Given the description of an element on the screen output the (x, y) to click on. 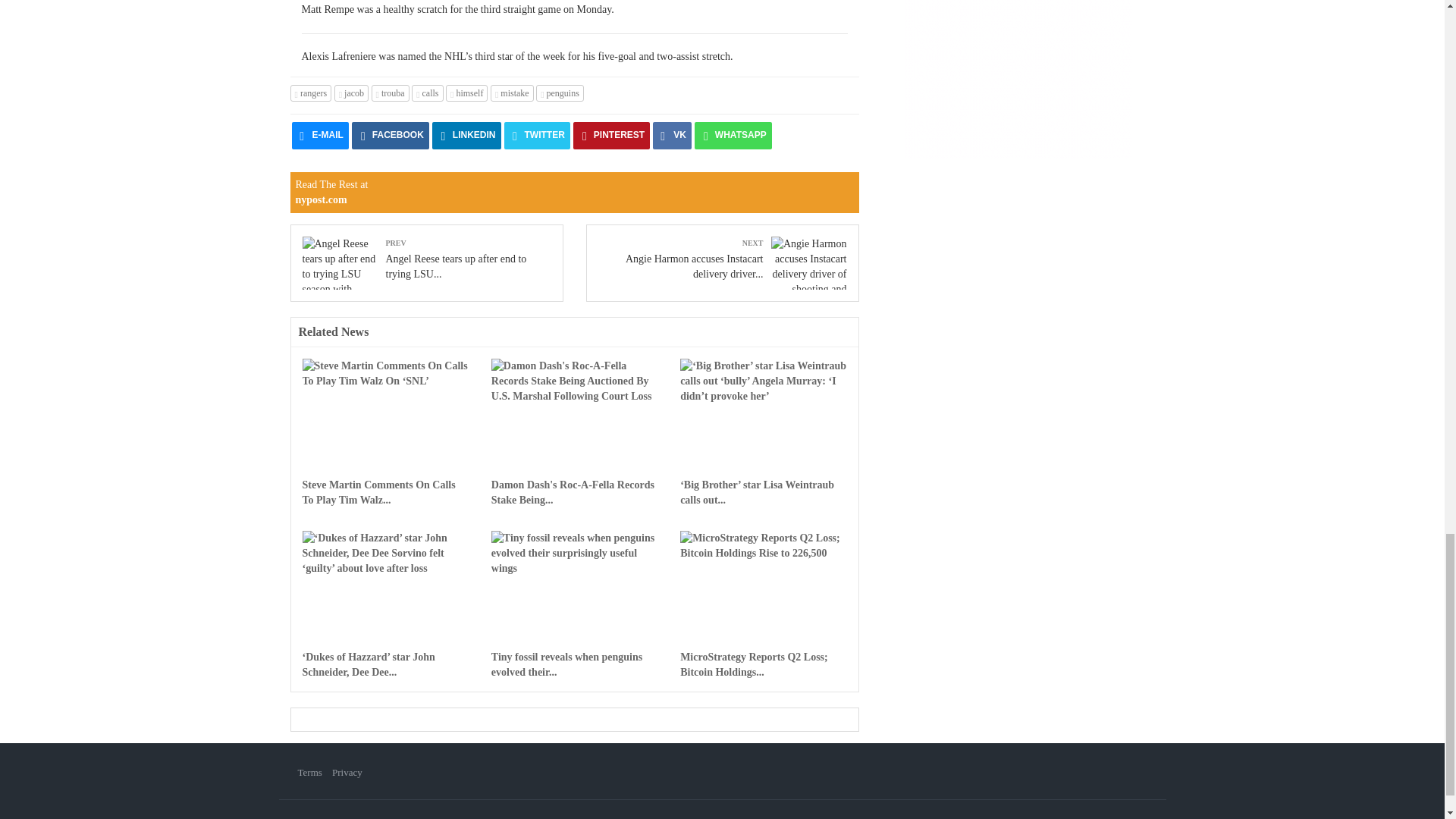
mistake (512, 93)
penguins (559, 93)
trouba (390, 93)
himself (466, 93)
rangers (310, 93)
jacob (351, 93)
rangers (310, 93)
calls (427, 93)
